Given the description of an element on the screen output the (x, y) to click on. 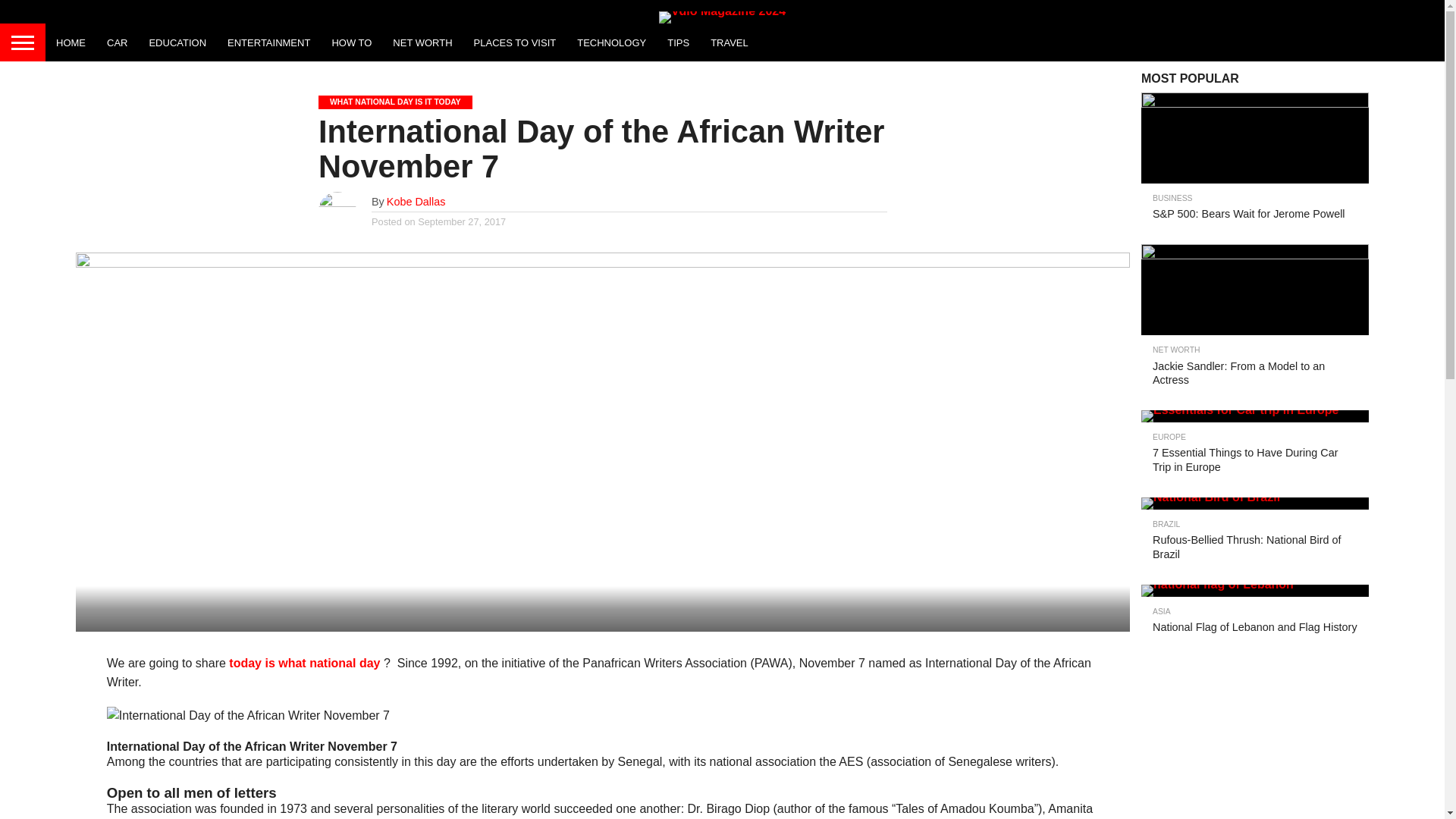
CAR (117, 42)
TECHNOLOGY (611, 42)
NET WORTH (422, 42)
HOME (70, 42)
HOW TO (350, 42)
International Day of the African Writer November 7 (248, 715)
TRAVEL (729, 42)
ENTERTAINMENT (268, 42)
today is what national day (304, 662)
Kobe Dallas (416, 201)
EDUCATION (177, 42)
TIPS (678, 42)
Posts by Kobe Dallas (416, 201)
PLACES TO VISIT (515, 42)
